Given the description of an element on the screen output the (x, y) to click on. 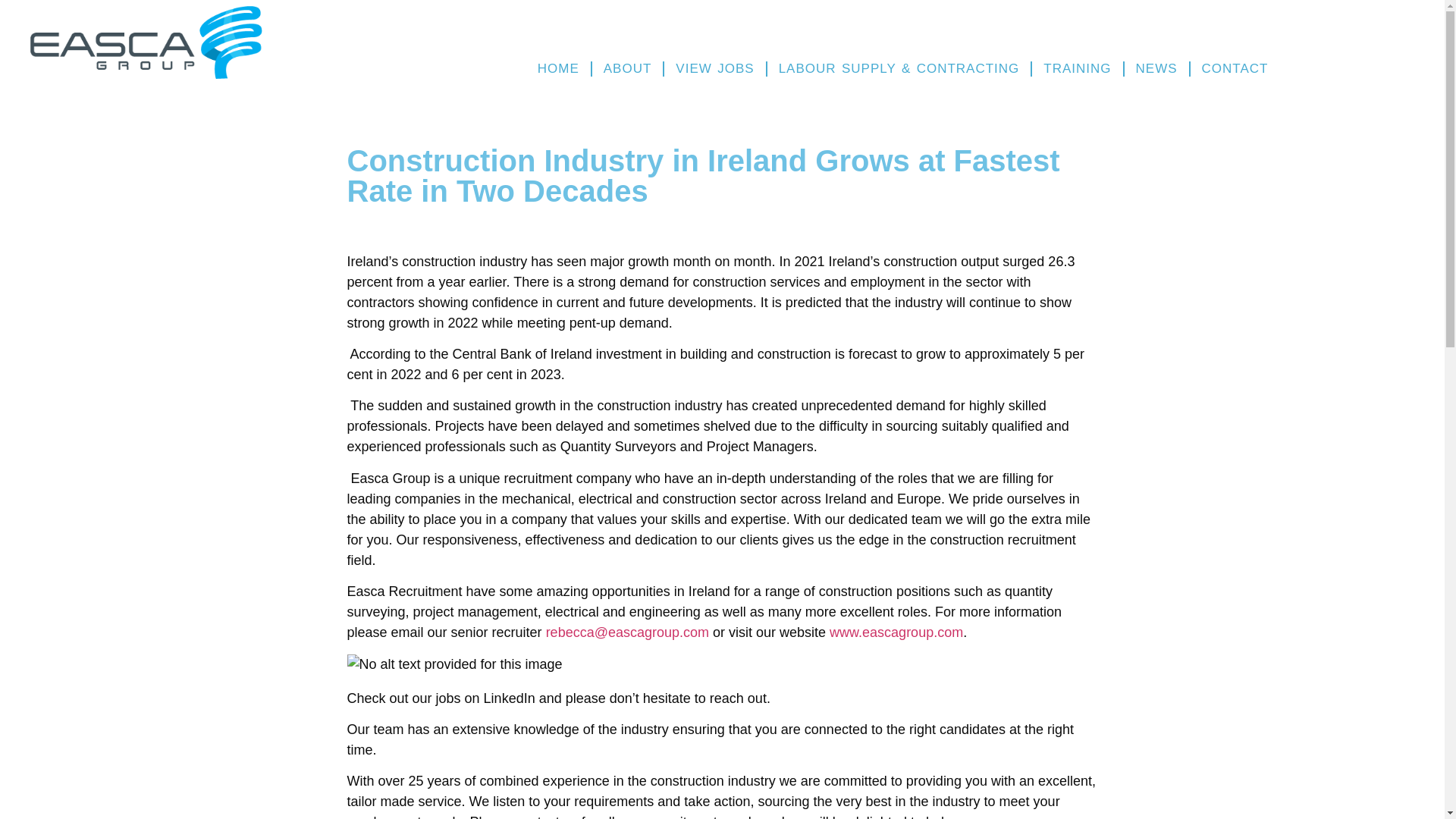
ABOUT (628, 68)
HOME (558, 68)
NEWS (1156, 68)
TRAINING (1076, 68)
www.eascagroup.com (895, 631)
CONTACT (1235, 68)
VIEW JOBS (714, 68)
